Given the description of an element on the screen output the (x, y) to click on. 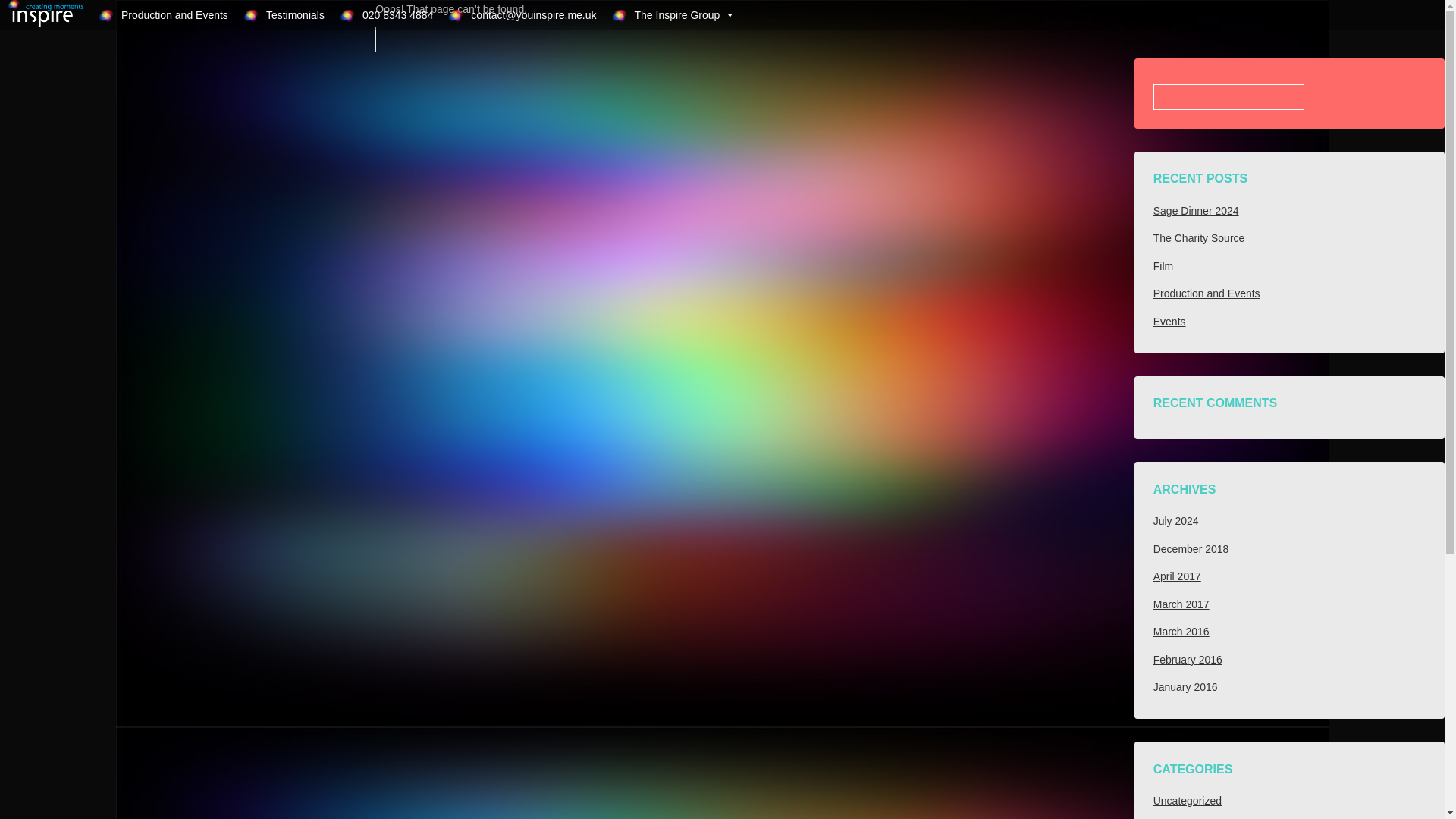
020 8343 4884 (386, 15)
The Charity Source (1198, 237)
July 2024 (1175, 521)
The Inspire Group (673, 15)
February 2016 (1188, 659)
Production and Events (162, 15)
Film (1163, 265)
Production and Events (1206, 293)
Search (21, 7)
Events (1169, 321)
